Given the description of an element on the screen output the (x, y) to click on. 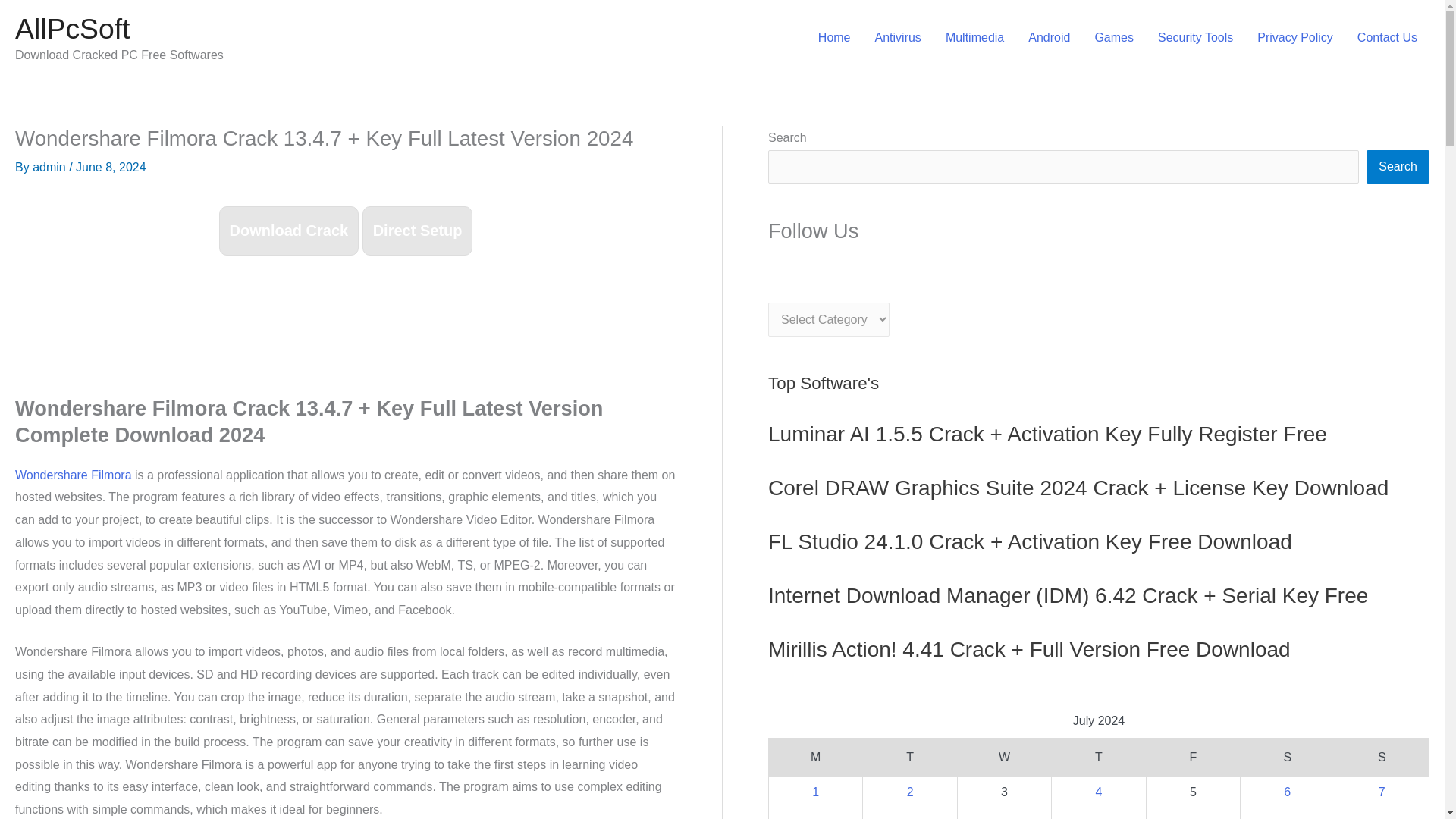
Download Crack Direct Setup (346, 231)
View all posts by admin (50, 166)
Privacy Policy (1294, 37)
AllPcSoft (71, 29)
Android (1048, 37)
Games (1113, 37)
Contact Us (1387, 37)
Multimedia (974, 37)
Wondershare Filmora (73, 474)
Direct Setup (417, 230)
Download Crack (289, 230)
Security Tools (1194, 37)
Antivirus (898, 37)
Home (834, 37)
admin (50, 166)
